Given the description of an element on the screen output the (x, y) to click on. 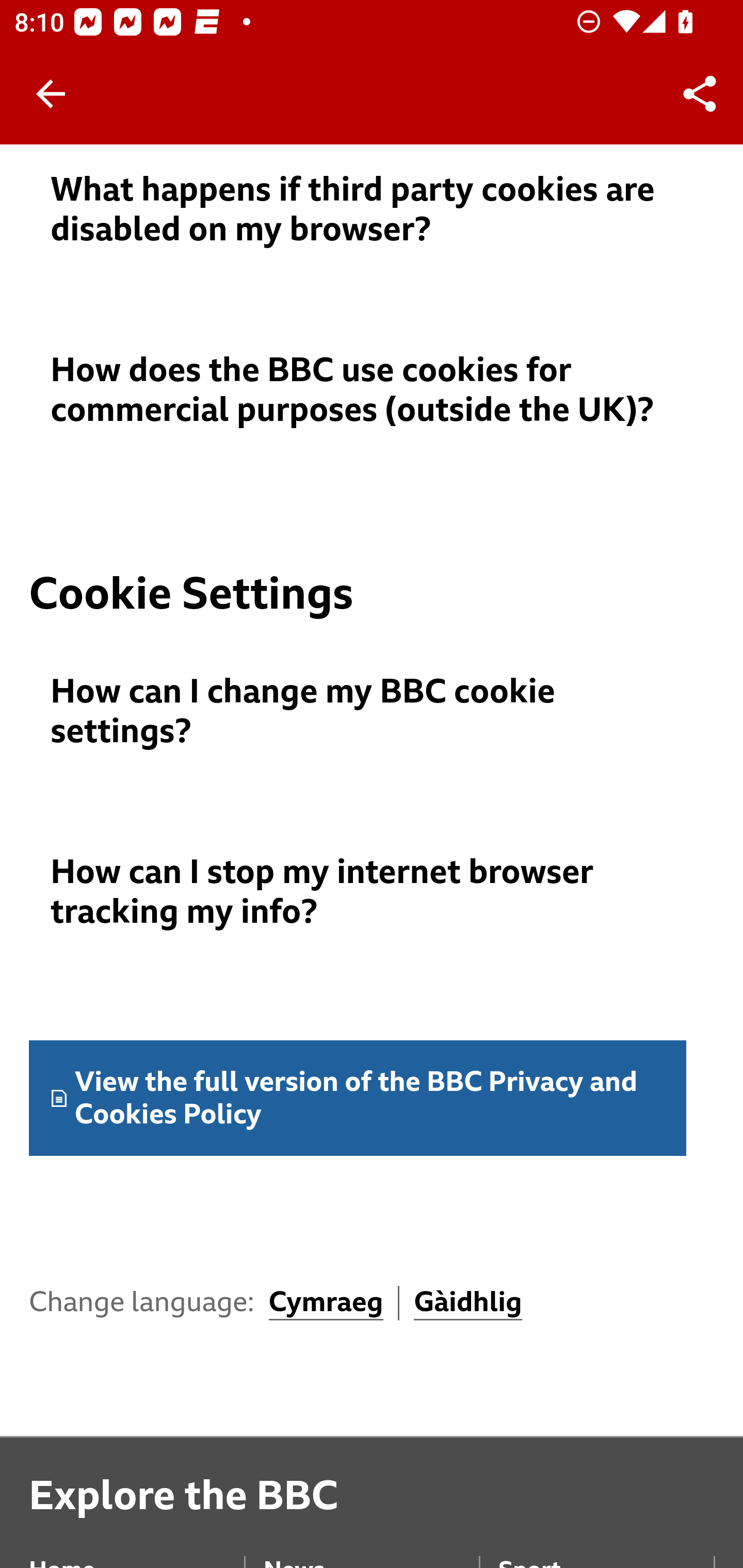
Back (50, 93)
Share (699, 93)
How can I change my BBC cookie settings? (372, 711)
Cymraeg (325, 1303)
Gàidhlig (468, 1303)
